Given the description of an element on the screen output the (x, y) to click on. 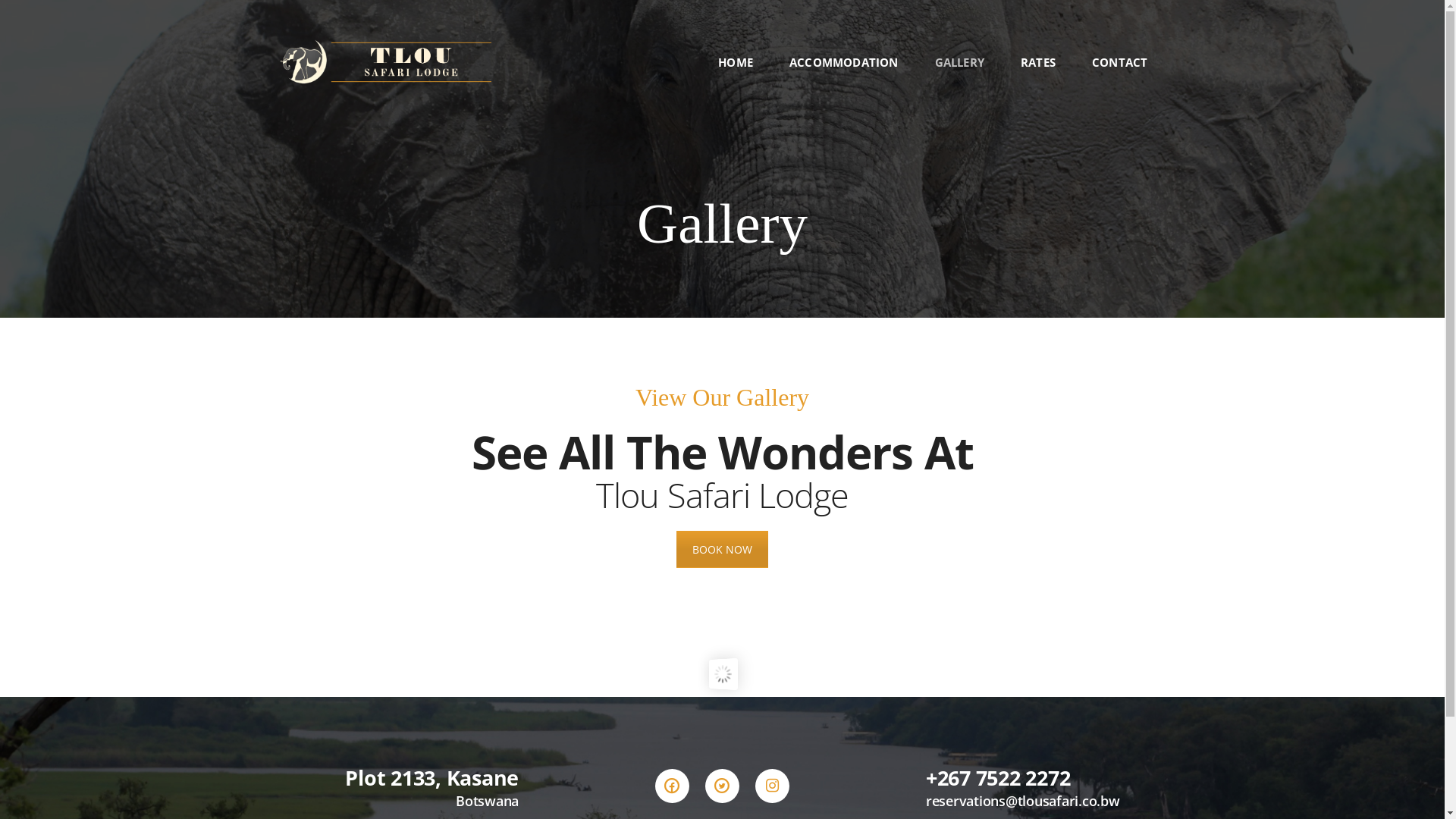
BOOK NOW Element type: text (722, 548)
GALLERY Element type: text (959, 61)
CONTACT Element type: text (1119, 61)
HOME Element type: text (744, 61)
RATES Element type: text (1037, 61)
ACCOMMODATION Element type: text (843, 61)
